Given the description of an element on the screen output the (x, y) to click on. 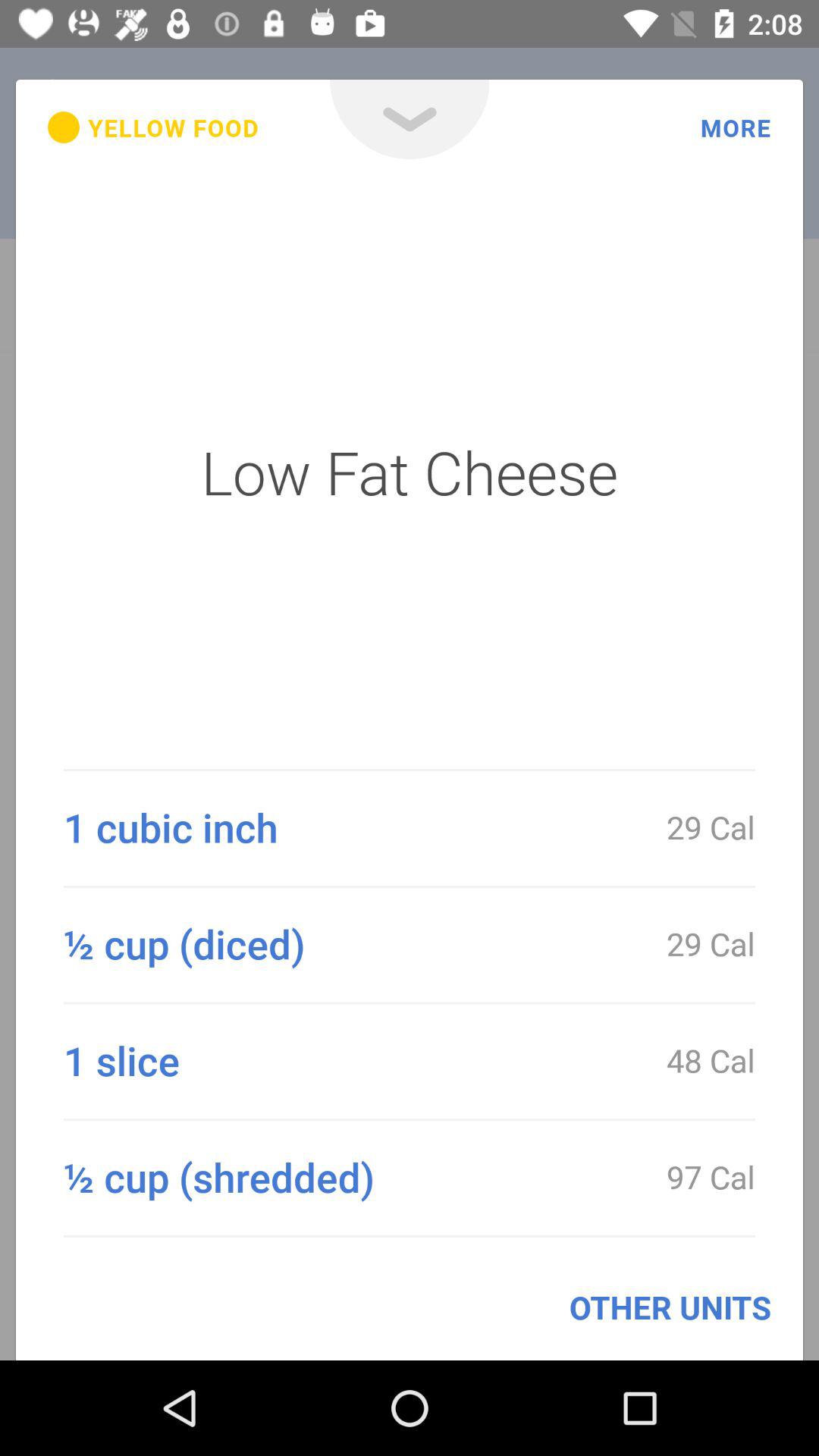
open the other units item (670, 1306)
